Given the description of an element on the screen output the (x, y) to click on. 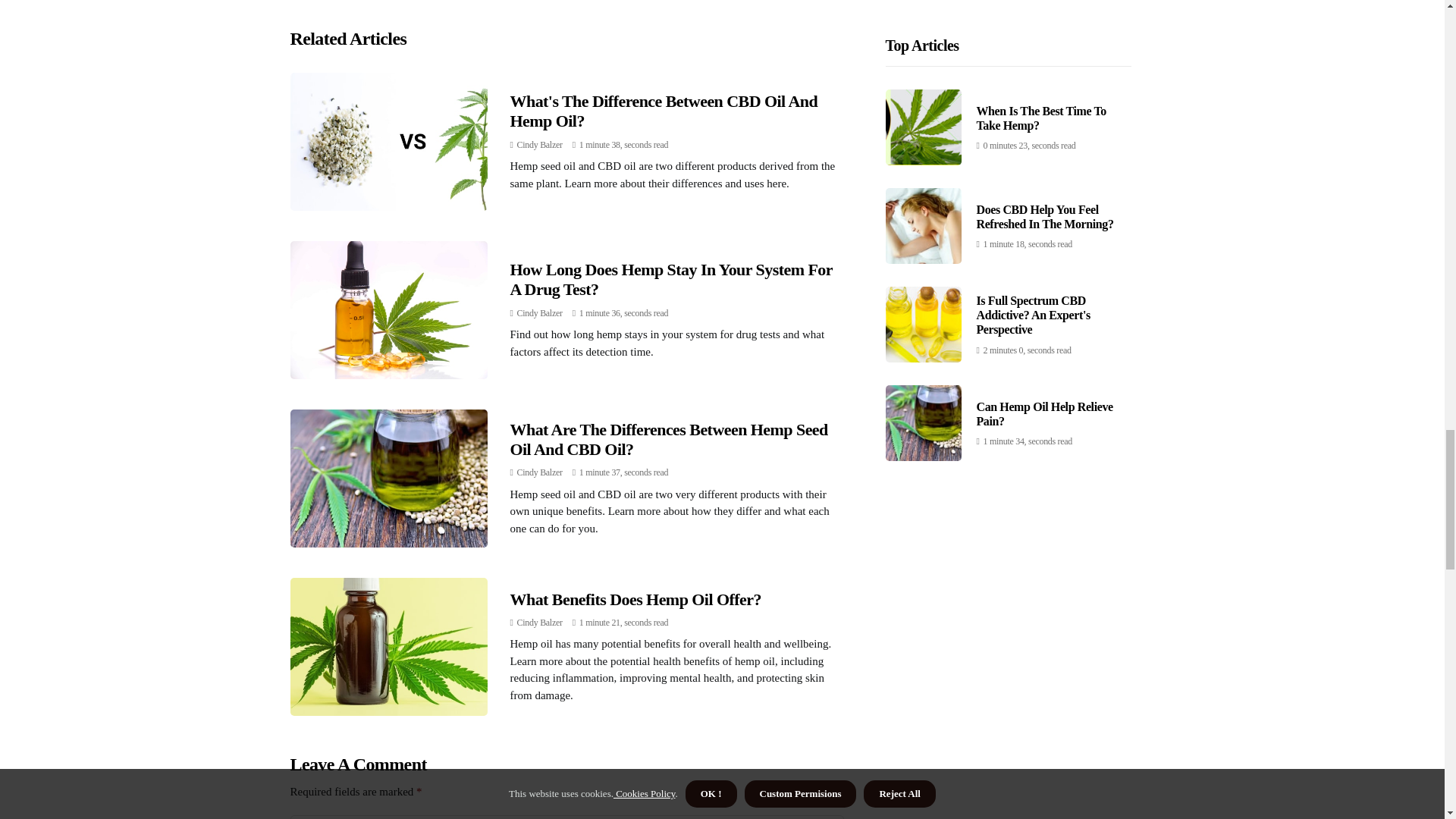
How Long Does Hemp Stay In Your System For A Drug Test? (670, 279)
Cindy Balzer (539, 312)
What Are The Differences Between Hemp Seed Oil And CBD Oil? (668, 439)
Posts by Cindy Balzer (539, 471)
Cindy Balzer (539, 144)
Posts by Cindy Balzer (539, 622)
Posts by Cindy Balzer (539, 312)
Posts by Cindy Balzer (539, 144)
What'S The Difference Between CBD Oil And Hemp Oil? (662, 110)
